Given the description of an element on the screen output the (x, y) to click on. 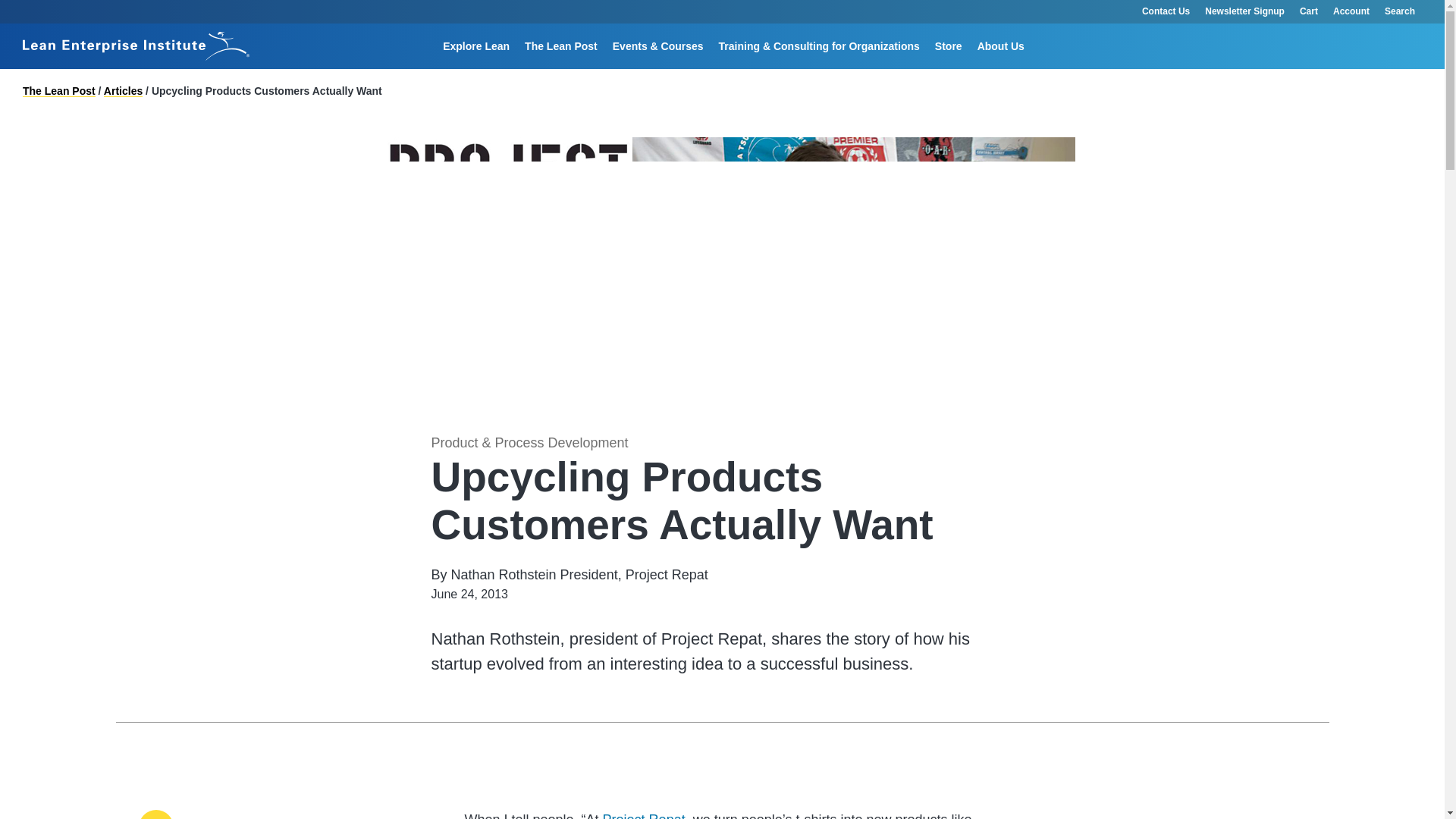
Cart (1308, 11)
Search (1407, 11)
Newsletter Signup (1244, 11)
Explore Lean (475, 45)
Explore Lean (475, 45)
The Lean Post (560, 45)
The Lean Post (560, 45)
Contact Us (1165, 11)
Search (924, 68)
Account (1350, 11)
